Given the description of an element on the screen output the (x, y) to click on. 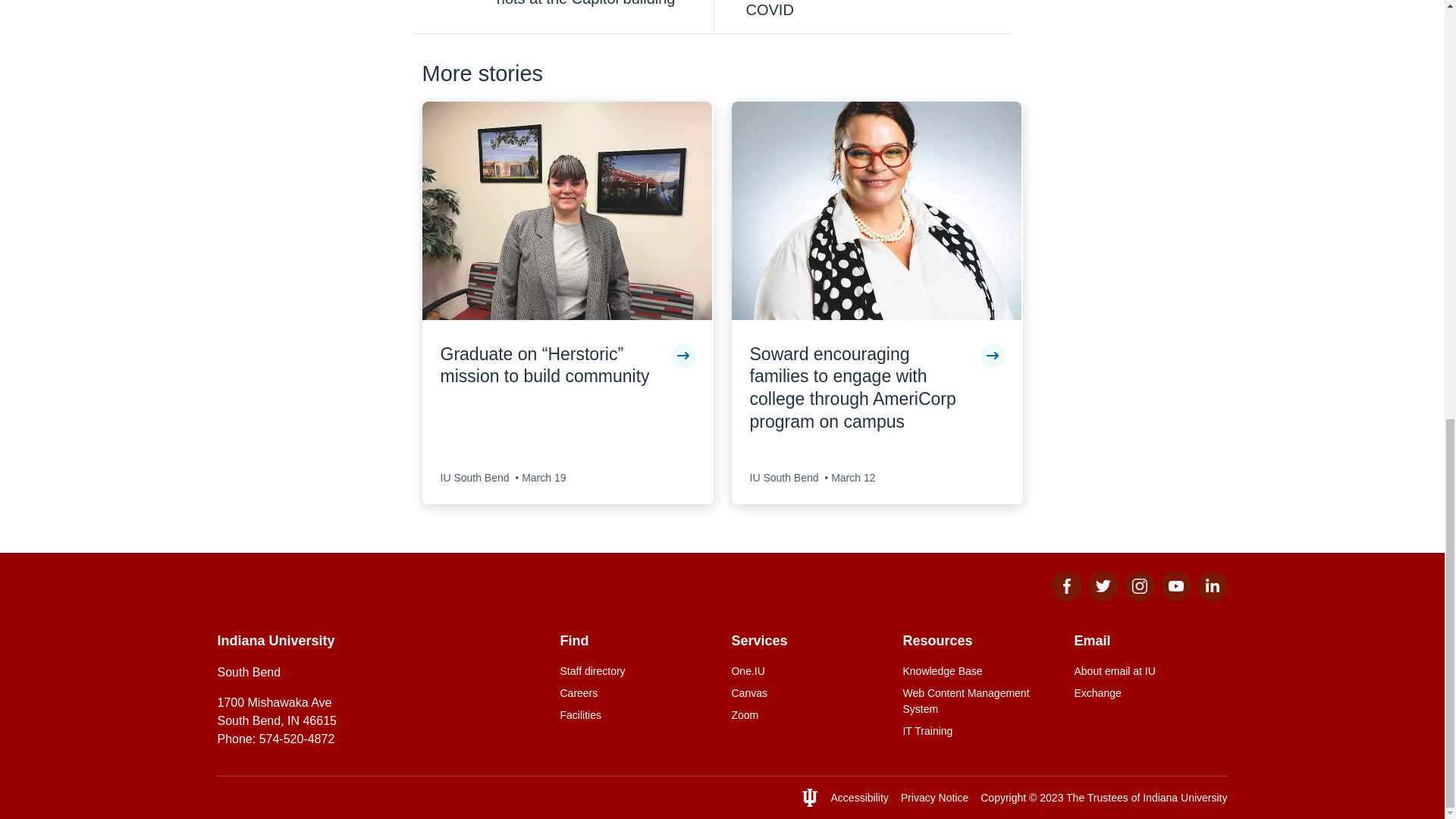
Staff directory (636, 671)
Facebook for IU South Bend (1066, 596)
Zoom (806, 715)
Exchange (1150, 693)
About email at IU (1150, 671)
Indiana University (1184, 797)
Privacy Notice (934, 797)
Instagram for IU (1139, 596)
